Given the description of an element on the screen output the (x, y) to click on. 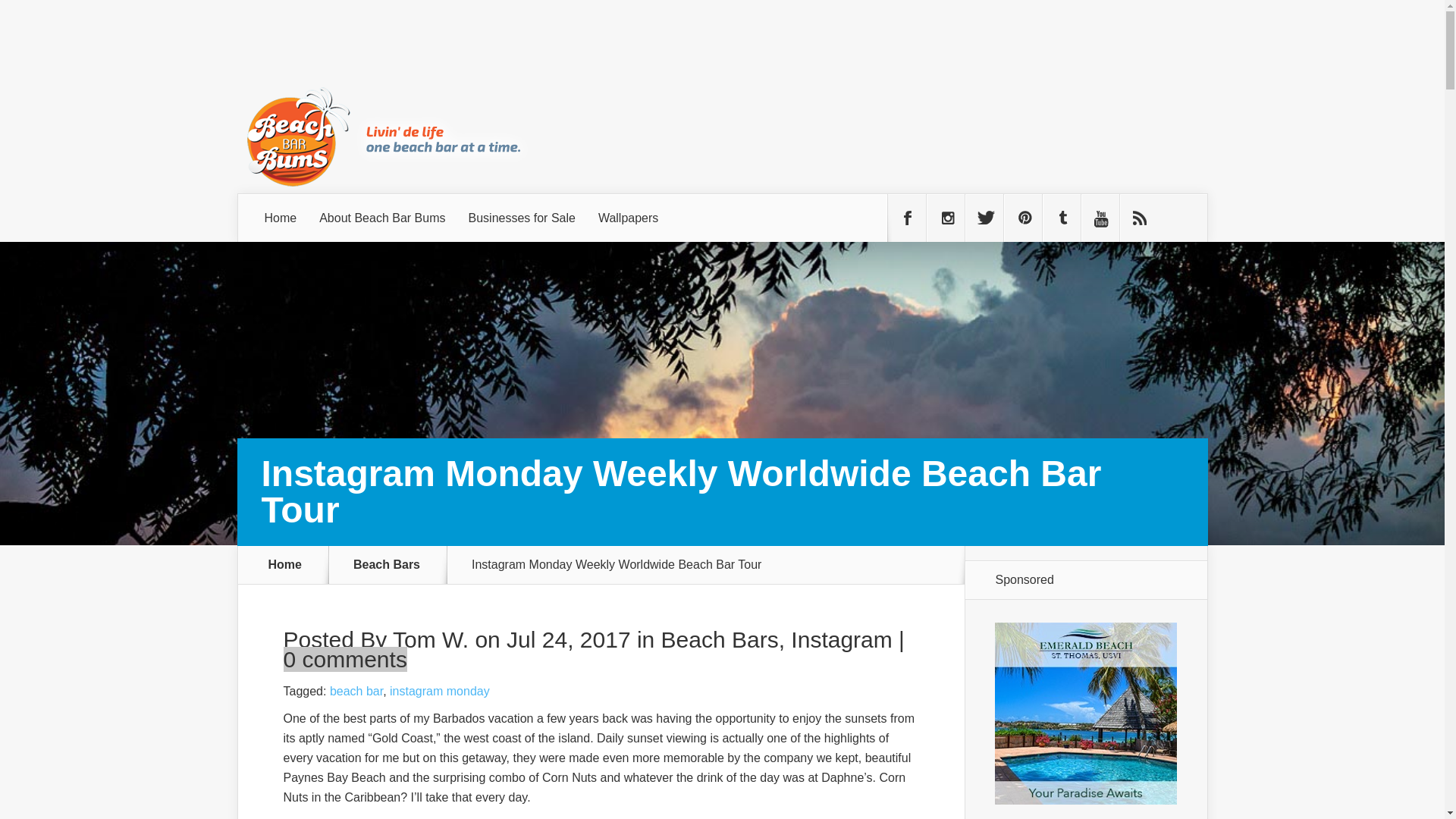
Home (285, 564)
Wallpapers (627, 218)
Beach Bars (395, 564)
About Beach Bar Bums (382, 218)
Instagram (840, 639)
0 comments (345, 659)
Businesses for Sale (521, 218)
instagram monday (439, 690)
beach bar (356, 690)
Home (280, 218)
Tom W. (430, 639)
Posts by Tom W. (430, 639)
Advertisement (931, 63)
Beach Bars (719, 639)
